Given the description of an element on the screen output the (x, y) to click on. 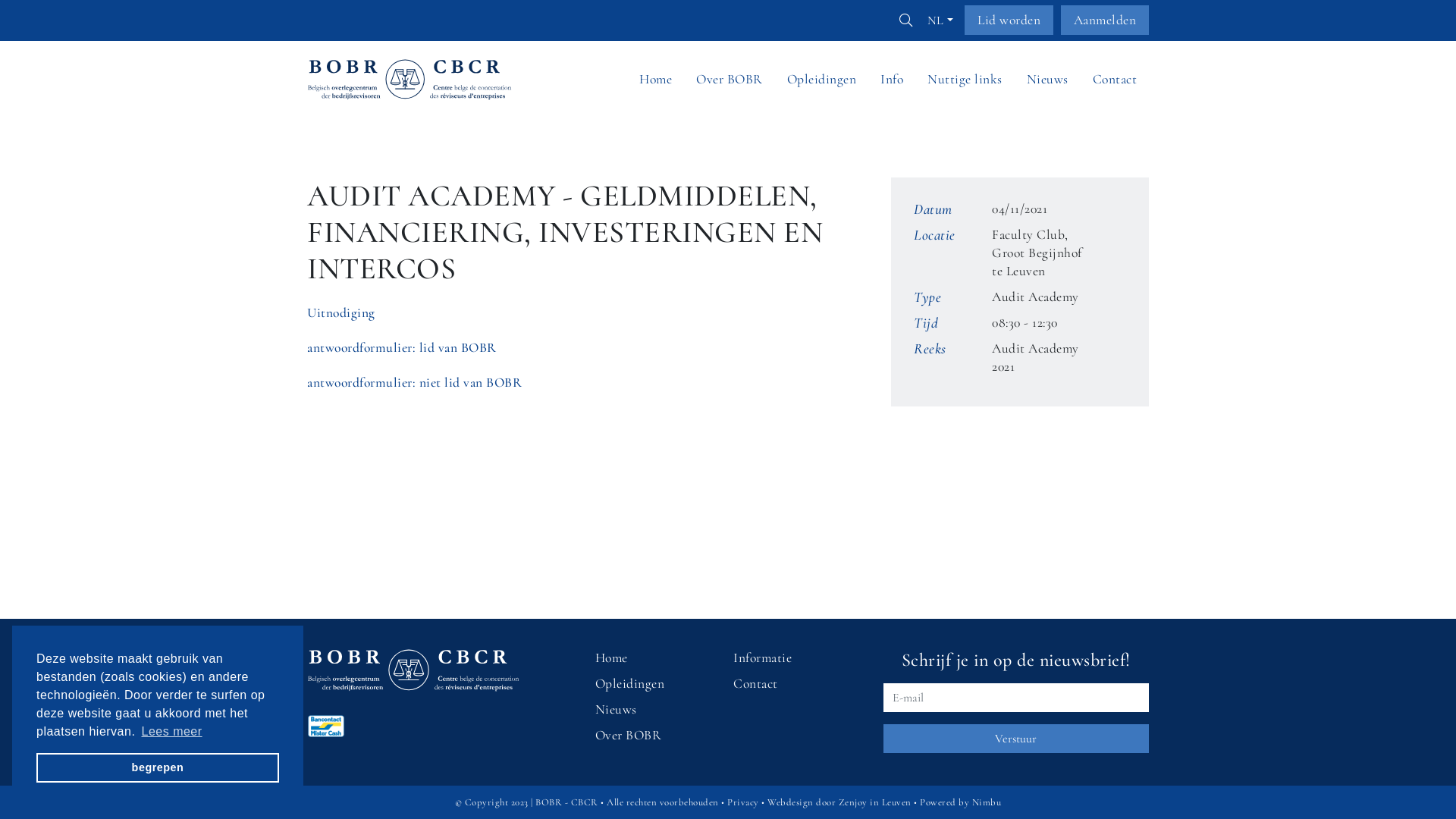
Verstuur Element type: text (1015, 738)
Home Element type: text (611, 657)
antwoordformulier: lid van BOBR Element type: text (401, 347)
Over BOBR Element type: text (628, 735)
Nieuws Element type: text (616, 709)
begrepen Element type: text (157, 767)
Opleidingen Element type: text (630, 683)
Aanmelden Element type: text (1104, 19)
Uitnodiging Element type: text (341, 312)
Powered by Nimbu Element type: text (960, 802)
Privacy Element type: text (743, 802)
Contact Element type: text (755, 683)
antwoordformulier: niet lid van BOBR Element type: text (414, 382)
NL Element type: text (940, 20)
Lid worden Element type: text (1008, 19)
Webdesign door Zenjoy in Leuven Element type: text (839, 802)
Lees meer Element type: text (170, 730)
Informatie Element type: text (762, 657)
